Given the description of an element on the screen output the (x, y) to click on. 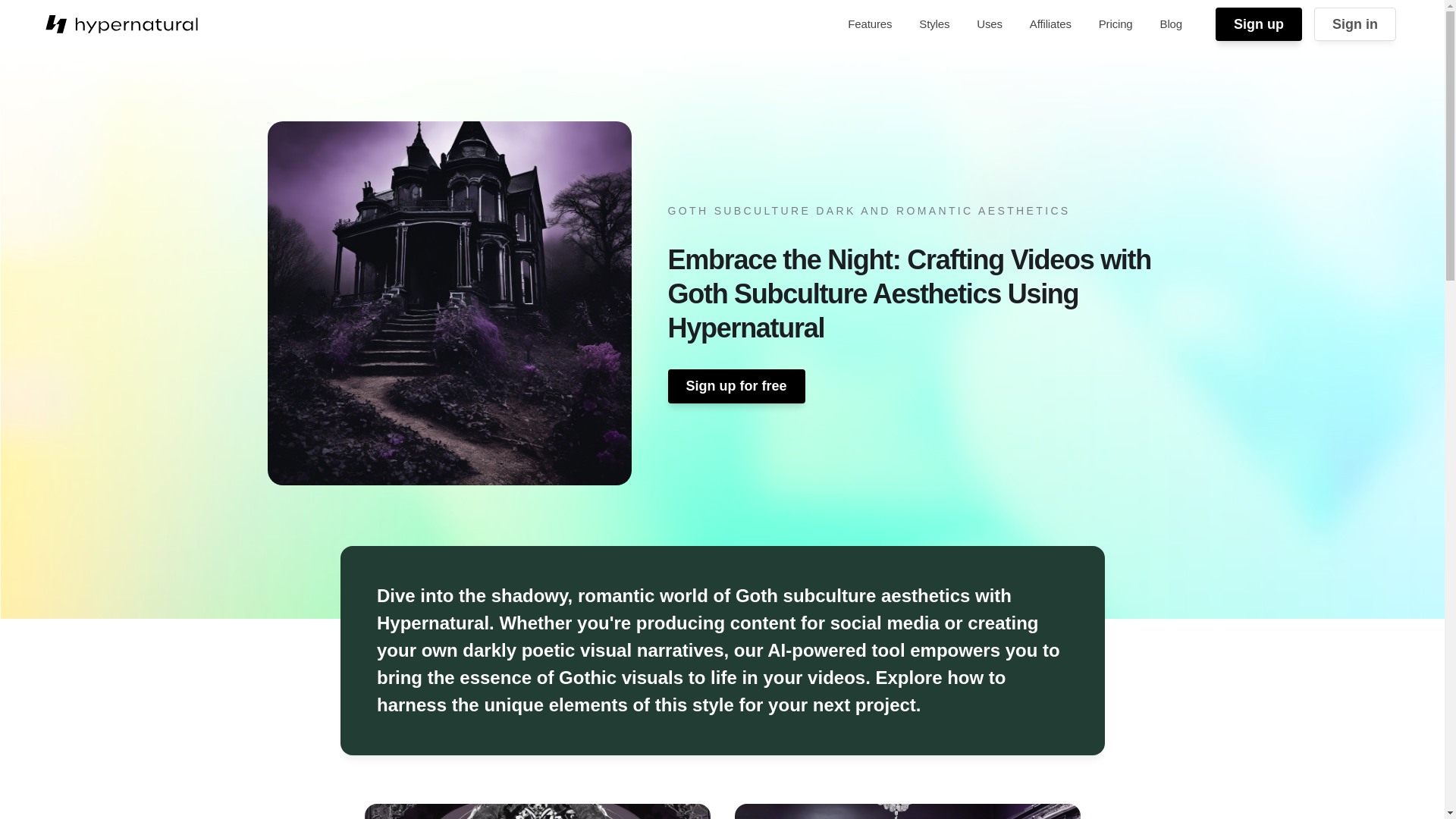
Blog (1171, 23)
Sign in (1355, 23)
Uses (989, 23)
Sign up (1258, 23)
Features (869, 23)
Pricing (1115, 23)
Sign up for free (735, 385)
Styles (934, 23)
Affiliates (1050, 23)
